Given the description of an element on the screen output the (x, y) to click on. 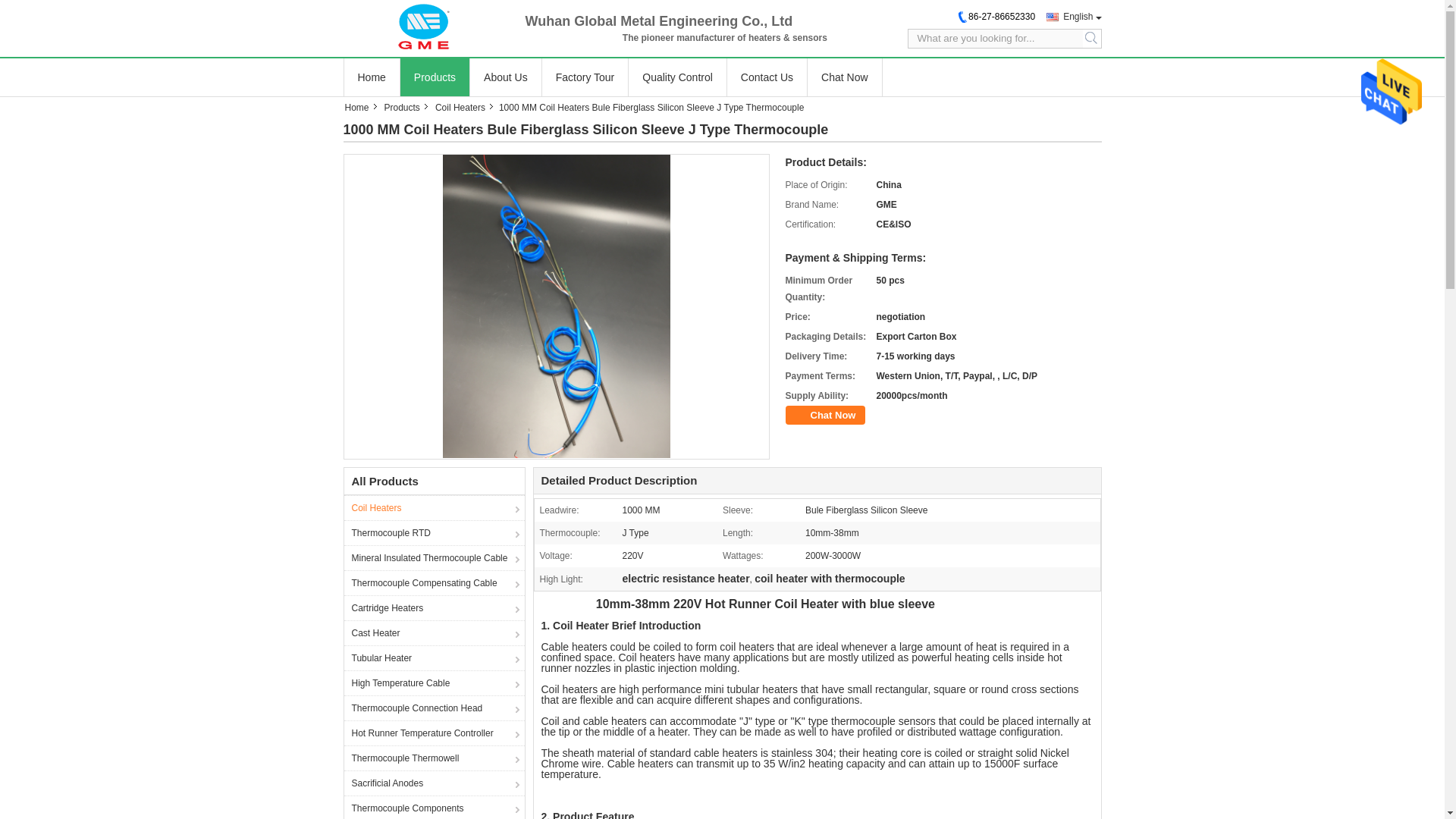
Hot Runner Temperature Controller (433, 732)
Sacrificial Anodes (433, 782)
Thermocouple Thermowell (433, 757)
Factory Tour (584, 77)
Products (433, 77)
Mineral Insulated Thermocouple Cable (433, 557)
Products (403, 107)
Thermocouple Connection Head (433, 707)
Chat Now (844, 77)
Thermocouple Compensating Cable (433, 582)
About Us (504, 77)
Cast Heater (433, 632)
Chat Now (826, 415)
Home (370, 77)
Coil Heaters (462, 107)
